Given the description of an element on the screen output the (x, y) to click on. 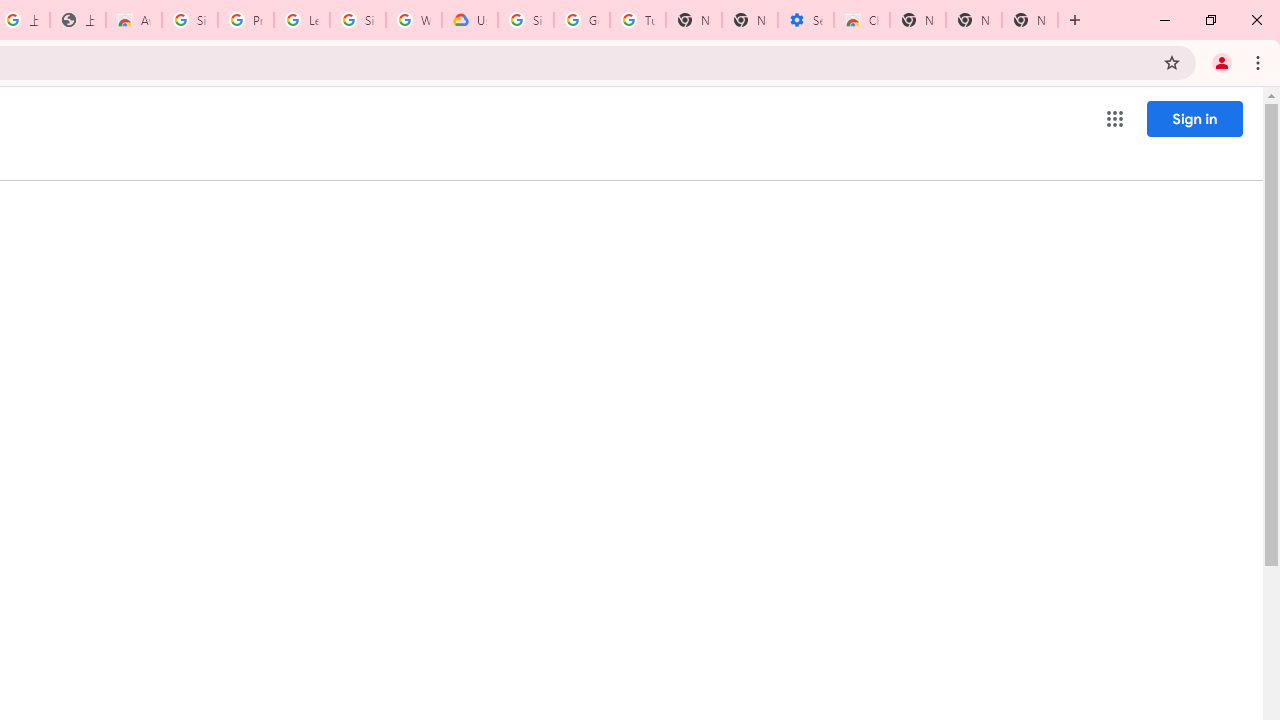
Awesome Screen Recorder & Screenshot - Chrome Web Store (134, 20)
Google Account Help (582, 20)
New Tab (1030, 20)
